Given the description of an element on the screen output the (x, y) to click on. 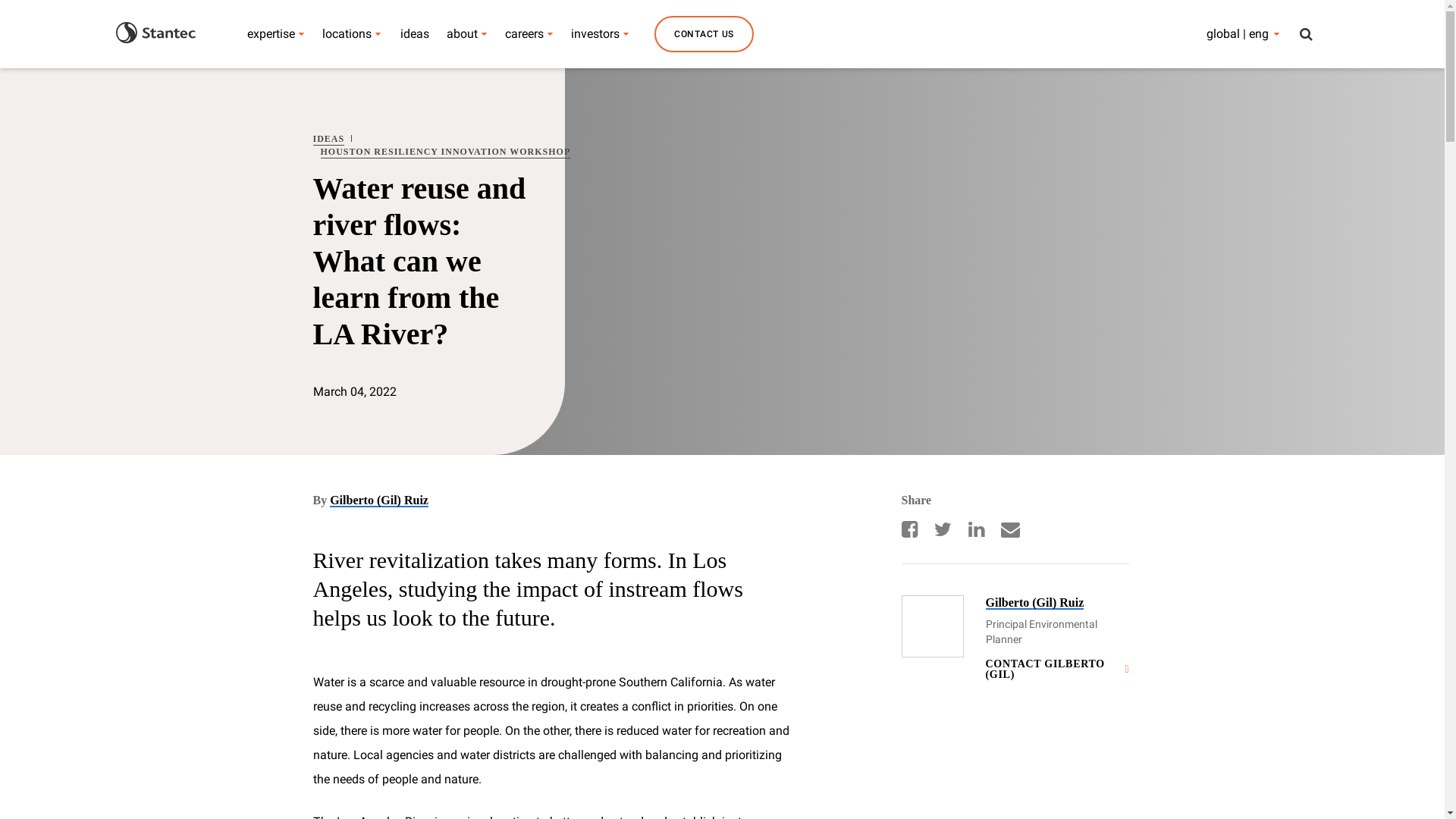
expertise (270, 33)
